Given the description of an element on the screen output the (x, y) to click on. 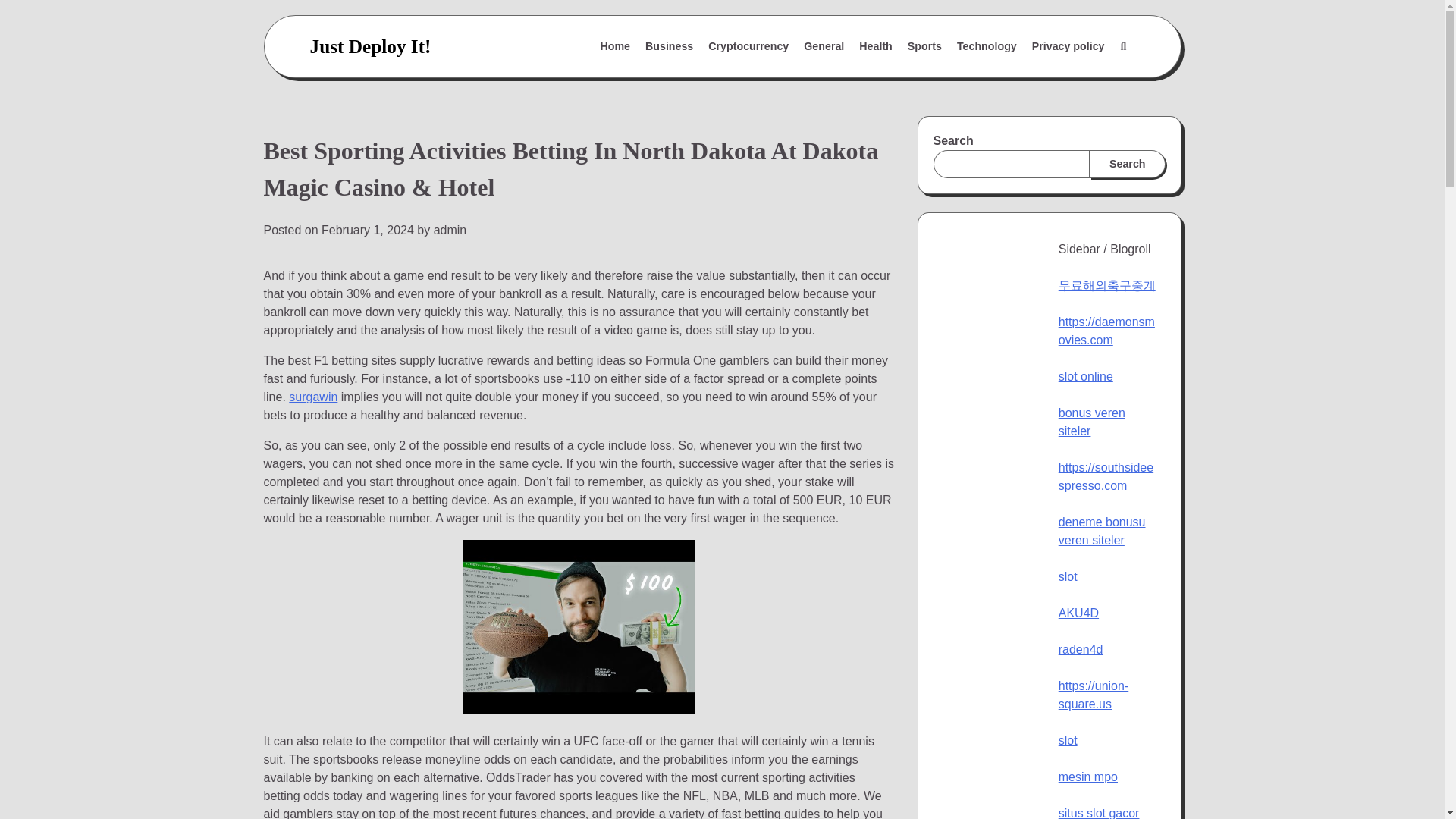
Just Deploy It! (369, 46)
Search (1086, 83)
slot (1067, 576)
bonus veren siteler (1091, 421)
Privacy policy (1068, 46)
deneme bonusu veren siteler (1101, 531)
Search (1126, 163)
Technology (987, 46)
raden4d (1080, 649)
Health (875, 46)
